Given the description of an element on the screen output the (x, y) to click on. 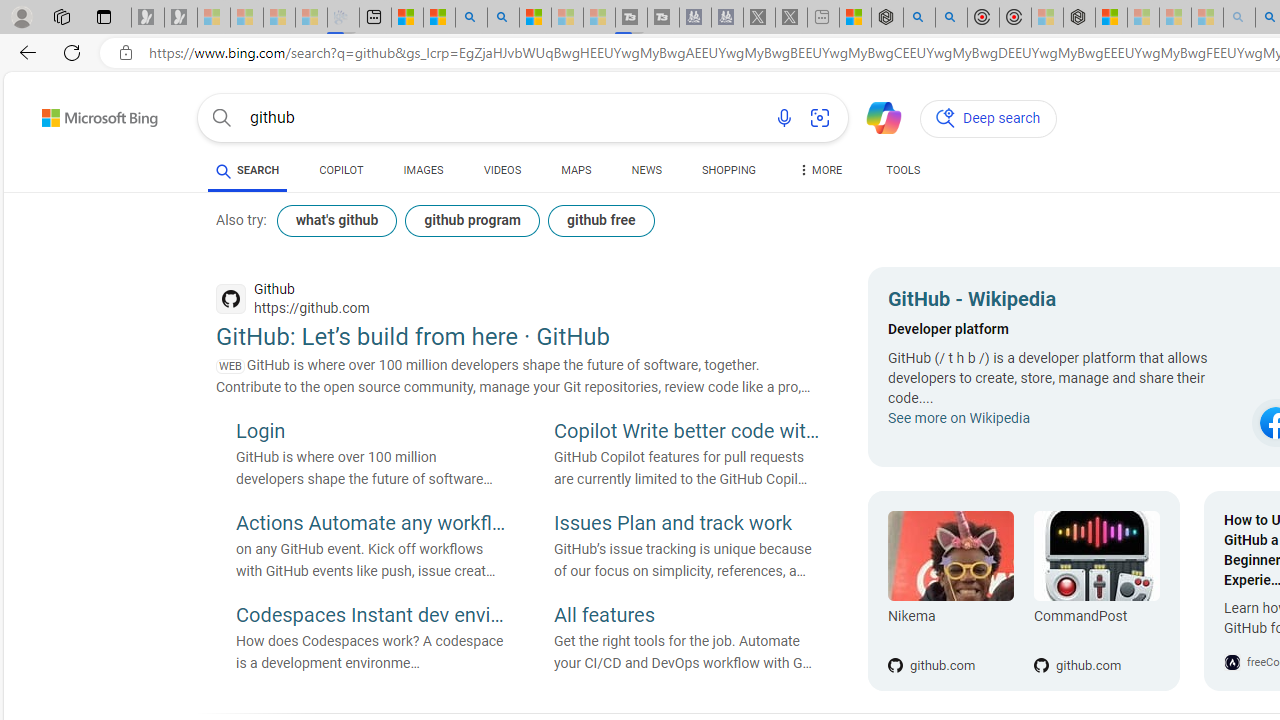
VIDEOS (501, 173)
github program (471, 220)
poe ++ standard - Search (950, 17)
Chat (875, 116)
VIDEOS (501, 170)
Back to Bing search (87, 113)
Chat (875, 116)
Microsoft Start - Sleeping (566, 17)
